Given the description of an element on the screen output the (x, y) to click on. 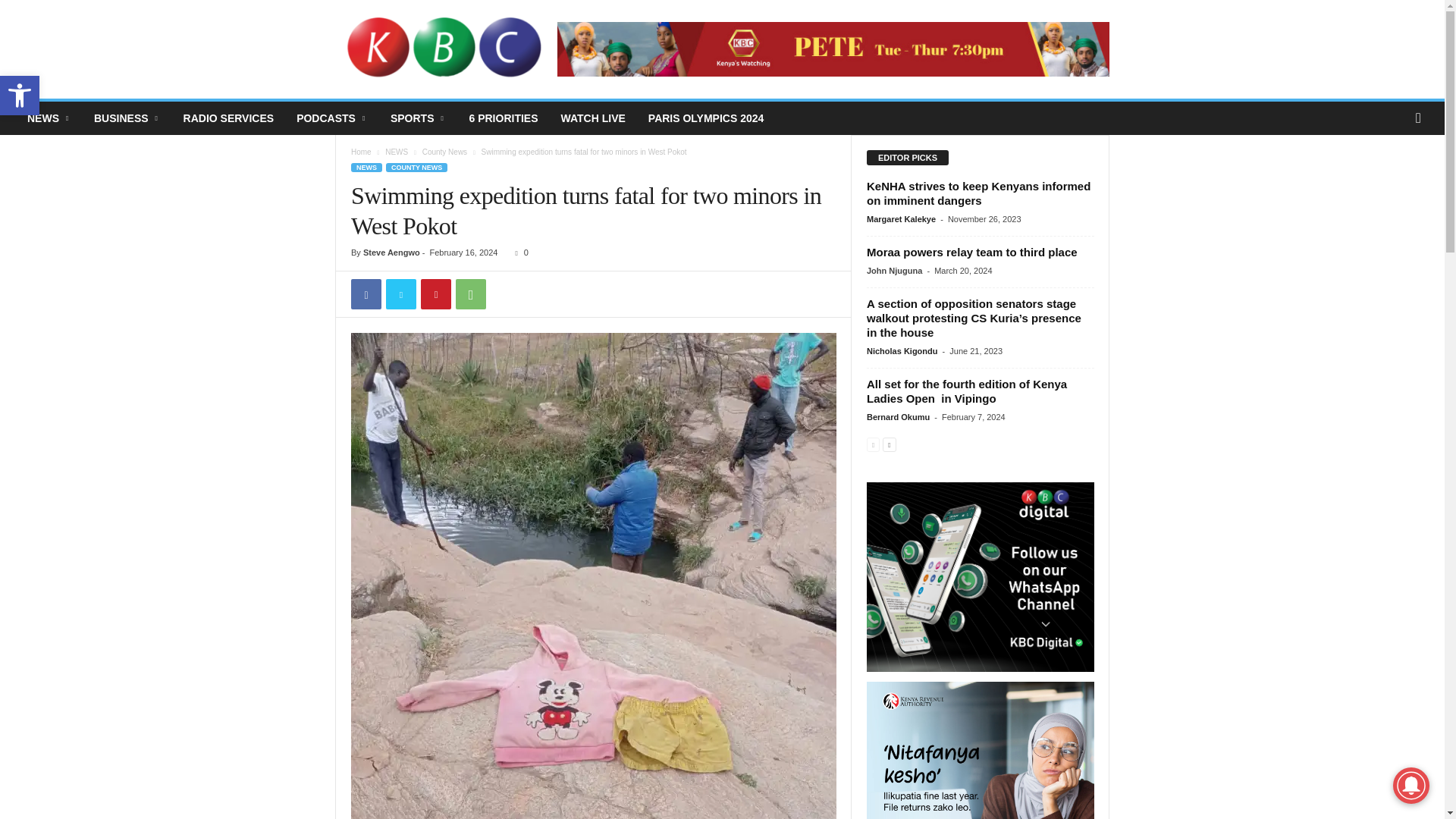
Accessibility Tools (19, 95)
Accessibility Tools (19, 95)
